Given the description of an element on the screen output the (x, y) to click on. 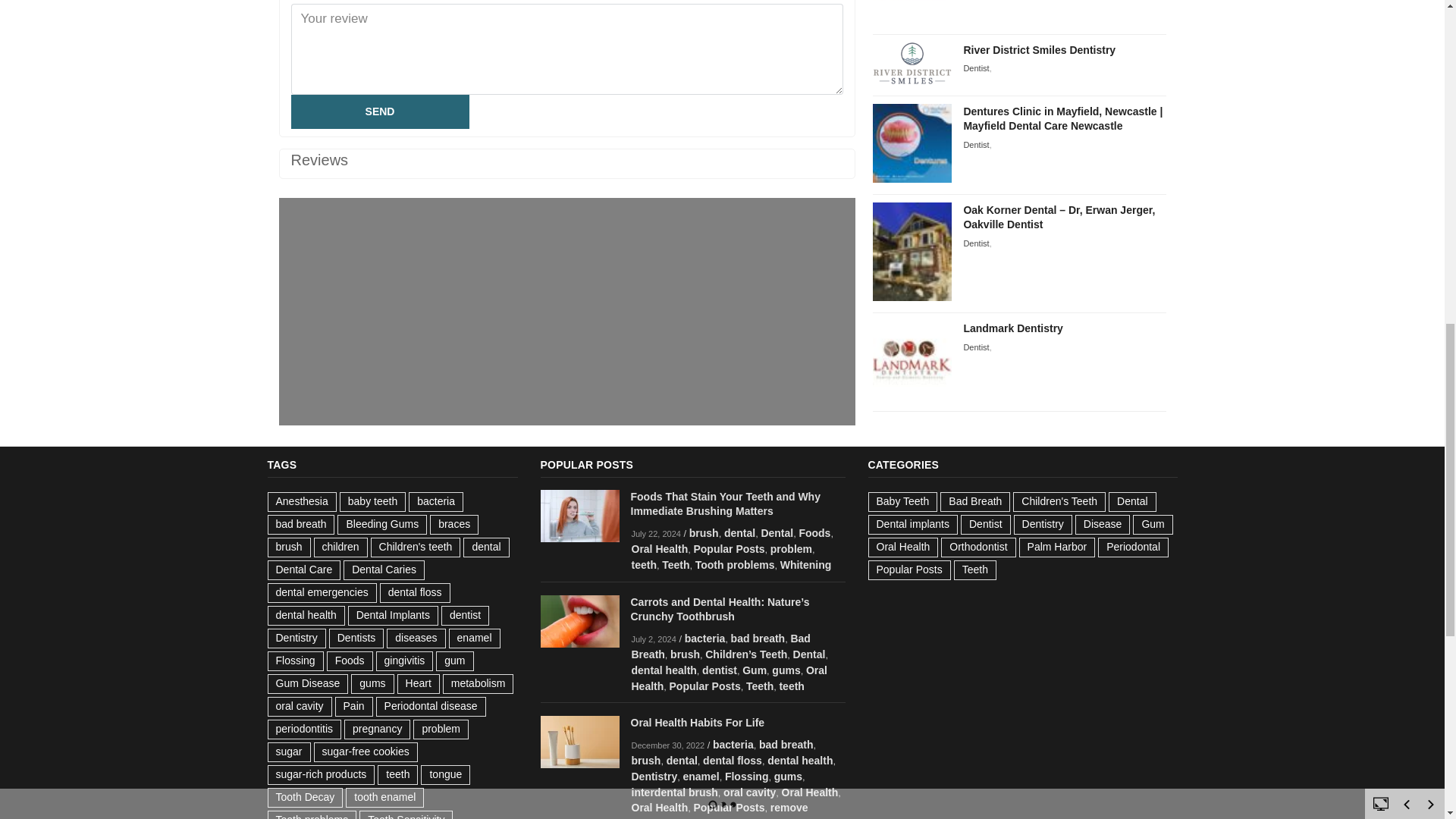
SEND (379, 110)
Dentist (975, 243)
Dentist (975, 144)
Dentist (975, 67)
Dentist (975, 347)
